Given the description of an element on the screen output the (x, y) to click on. 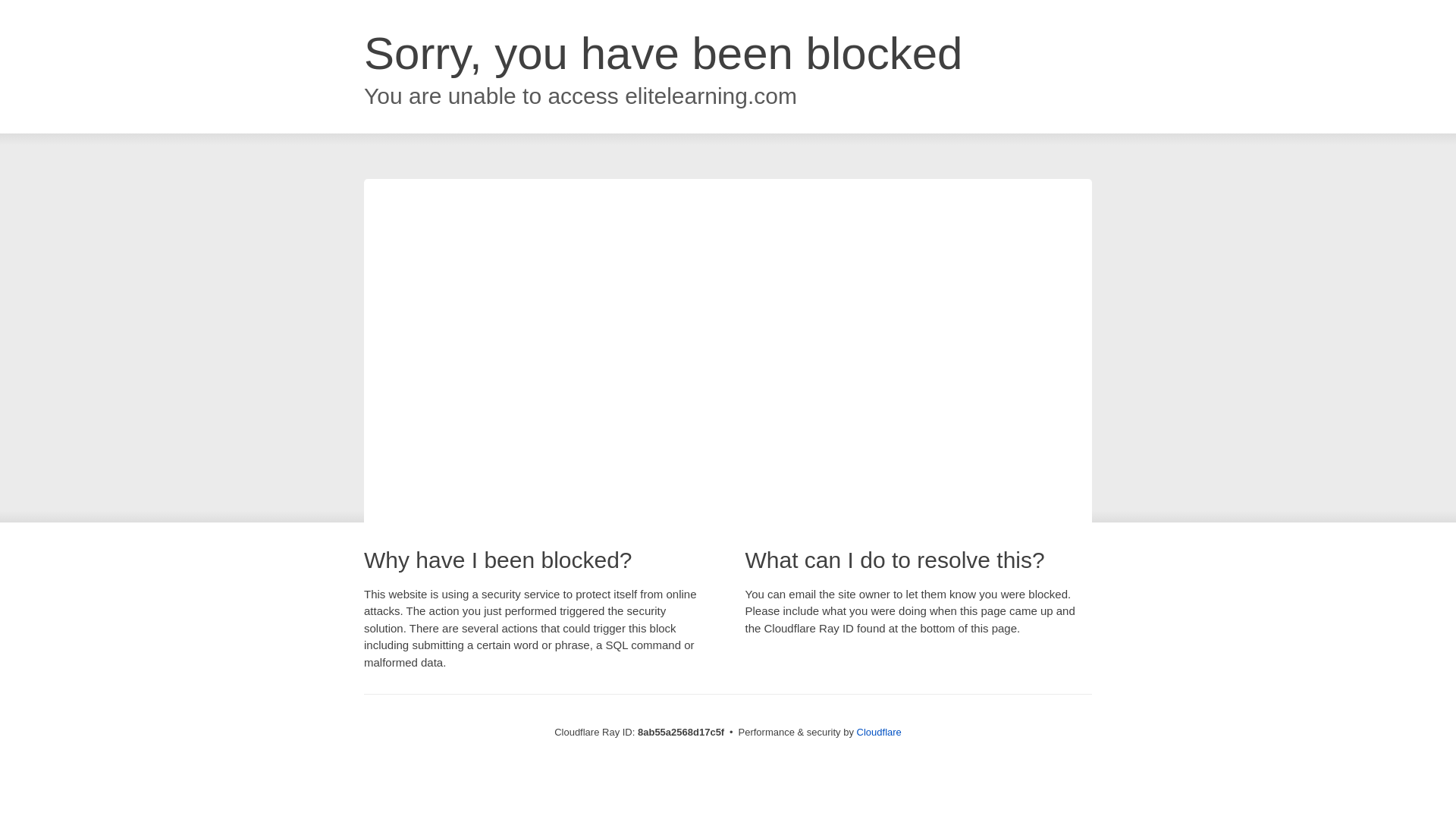
Cloudflare (879, 731)
